Given the description of an element on the screen output the (x, y) to click on. 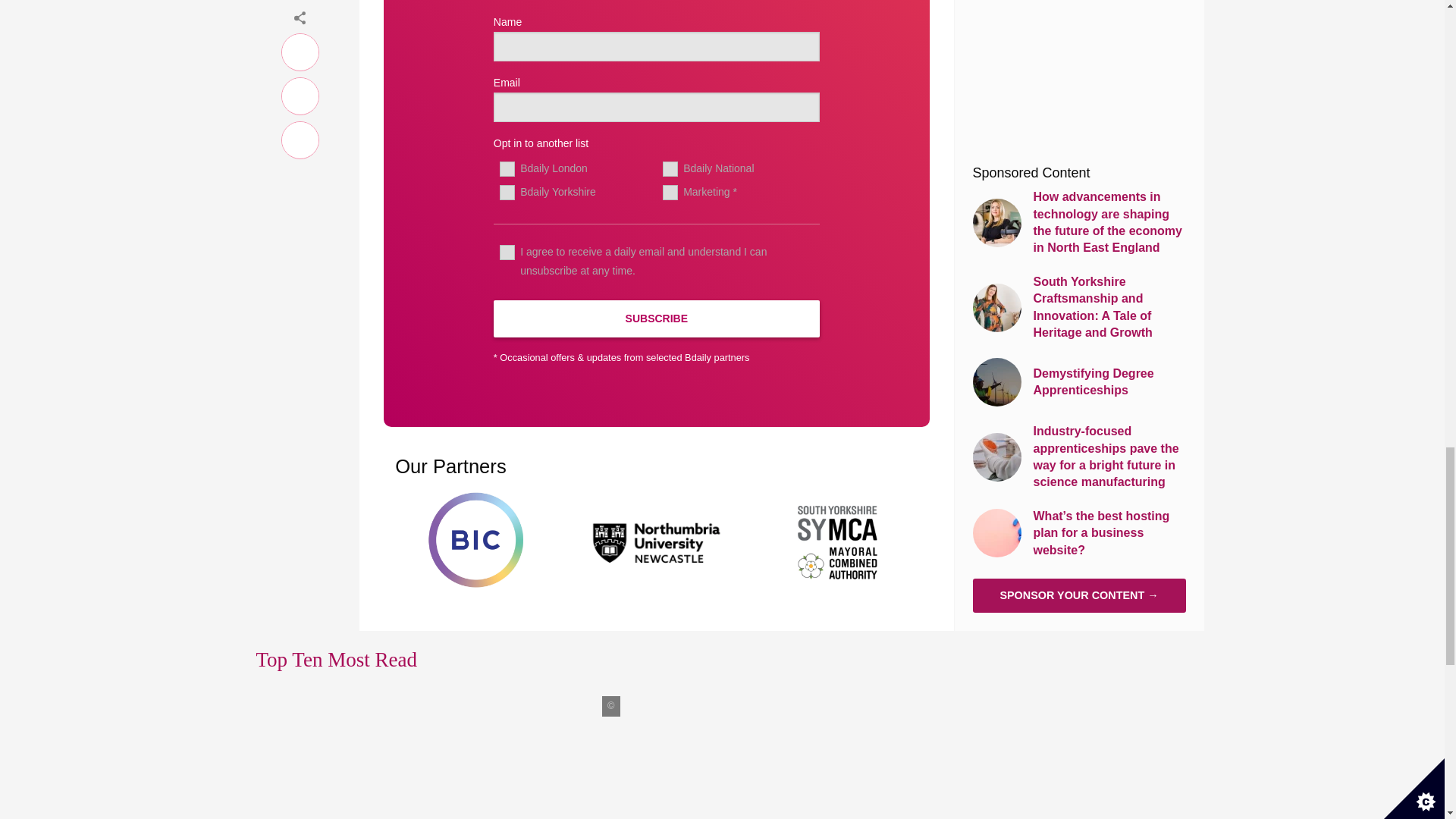
South Yorkshire Mayoral Combined Authority (838, 540)
Northumbria University Newcastle (656, 540)
SUBSCRIBE (656, 318)
North East BIC (474, 540)
